Given the description of an element on the screen output the (x, y) to click on. 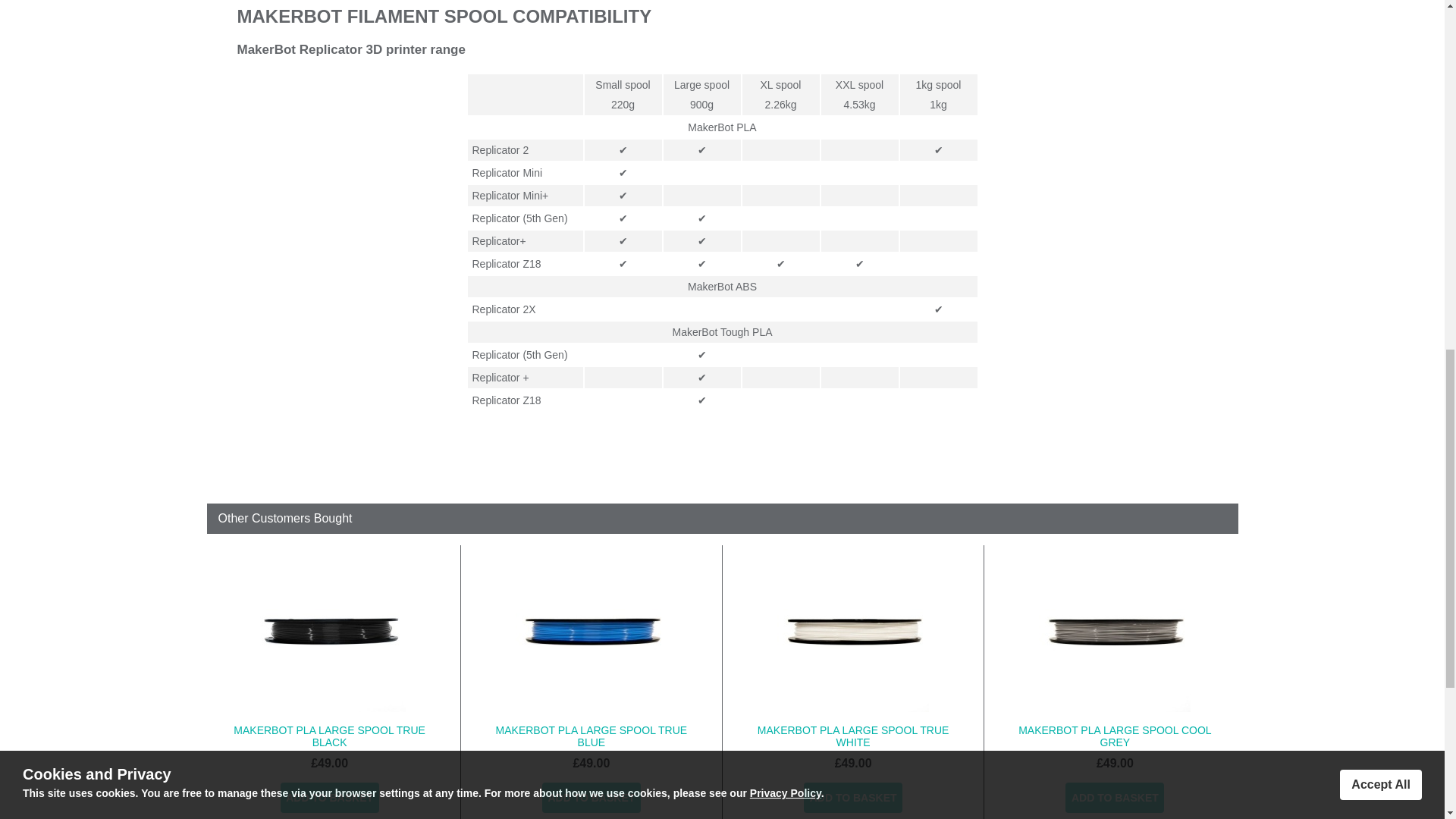
MAKERBOT PLA LARGE SPOOL COOL GREY (1114, 735)
MAKERBOT PLA LARGE SPOOL TRUE BLUE (591, 735)
MAKERBOT PLA LARGE SPOOL TRUE WHITE (853, 735)
ADD TO BASKET (852, 797)
ADD TO BASKET (329, 797)
MAKERBOT PLA LARGE SPOOL TRUE BLACK (328, 735)
ADD TO BASKET (590, 797)
ADD TO BASKET (1114, 797)
